Given the description of an element on the screen output the (x, y) to click on. 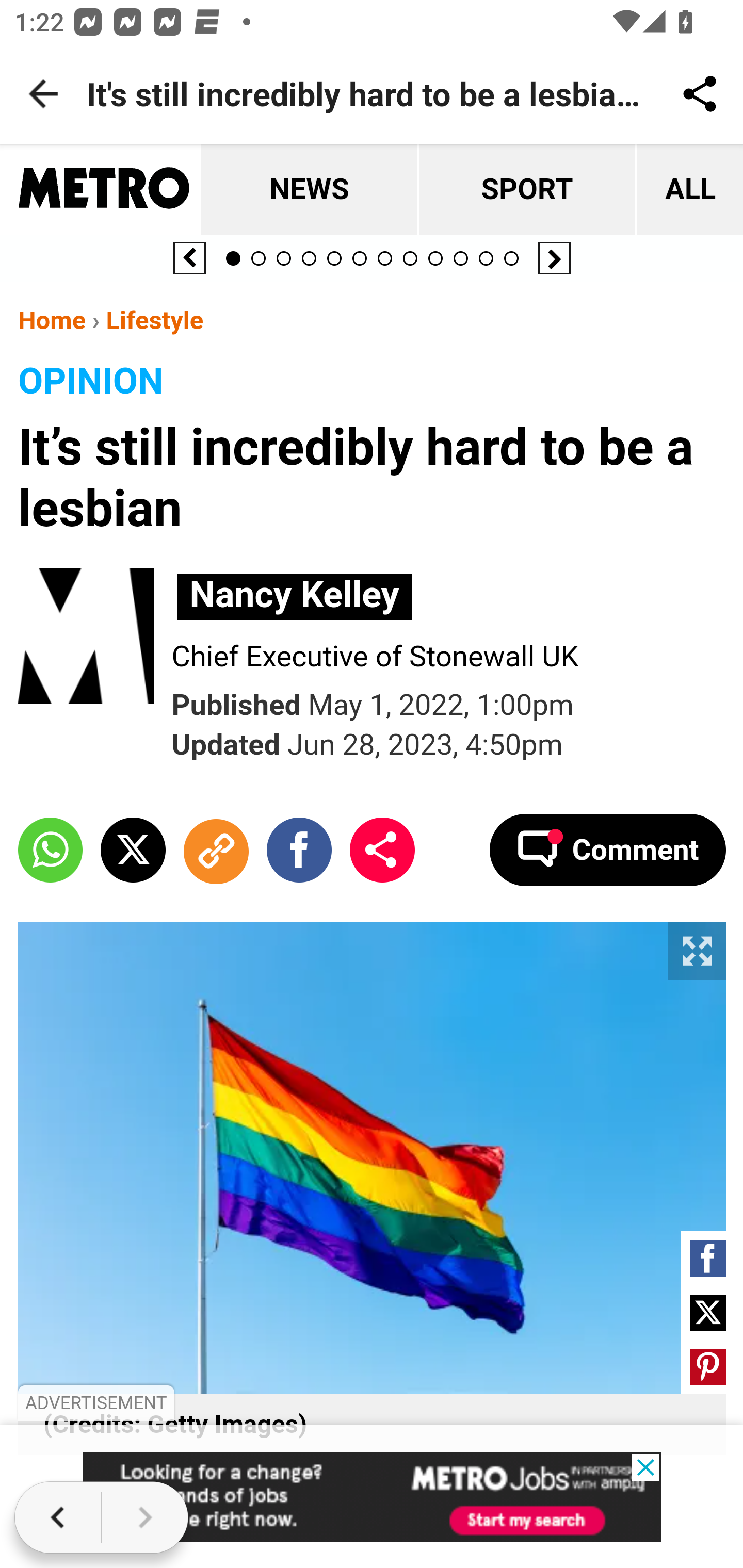
NEWS (308, 190)
SPORT (525, 190)
ALL (688, 190)
Metro (104, 189)
Home (51, 319)
Lifestyle (153, 319)
author image (95, 637)
Nancy Kelley (294, 596)
 (50, 848)
 (132, 848)
 (215, 848)
 (299, 848)
 (382, 848)
 Comment   Comment (607, 848)
 (708, 1257)
 (708, 1312)
 (708, 1366)
%3Fsource%3Dbanners-v1 (372, 1496)
